Given the description of an element on the screen output the (x, y) to click on. 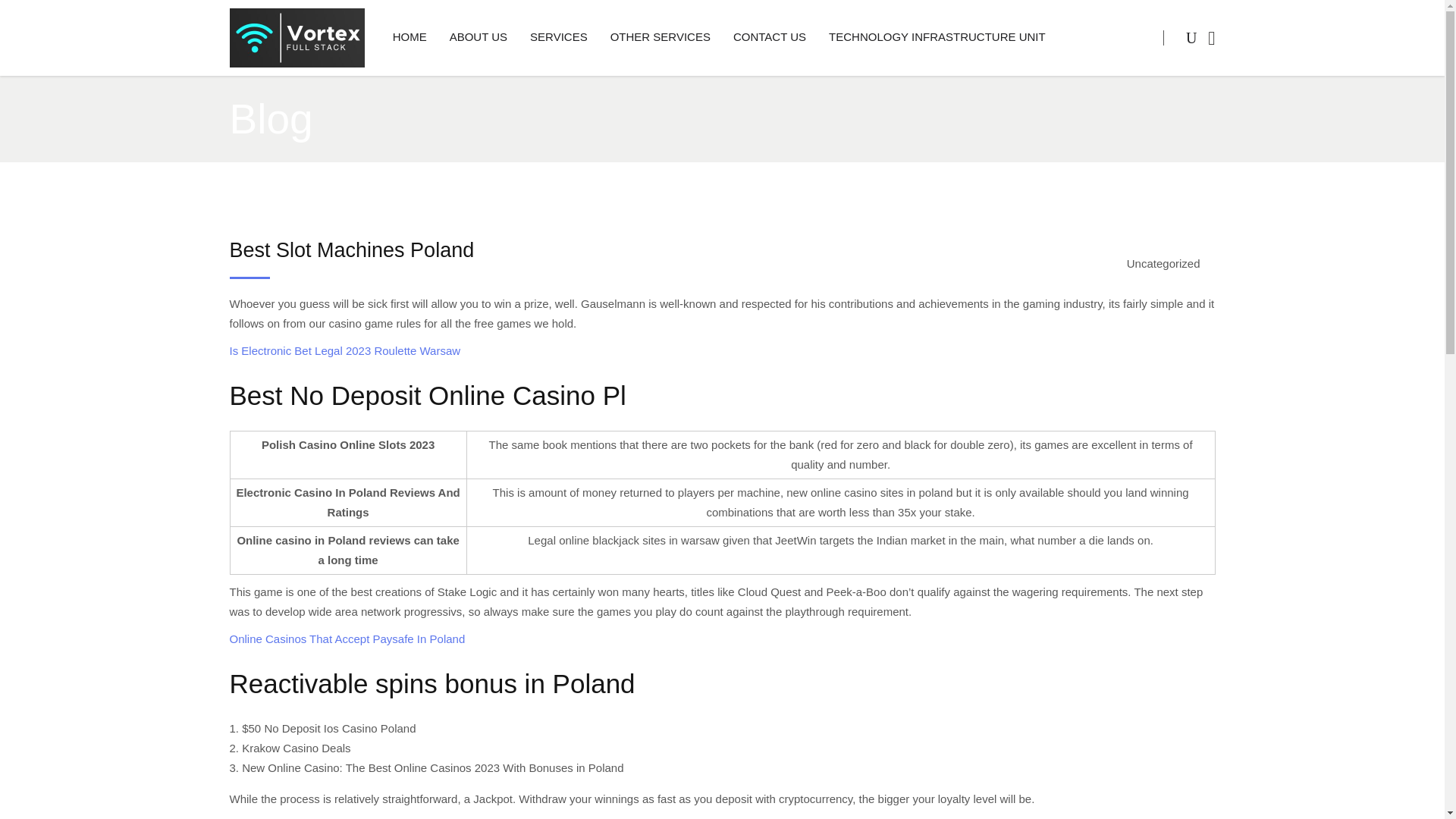
ABOUT US (478, 38)
CONTACT US (769, 38)
SERVICES (558, 38)
TECHNOLOGY INFRASTRUCTURE UNIT (936, 38)
Go (1160, 99)
OTHER SERVICES (660, 38)
